Given the description of an element on the screen output the (x, y) to click on. 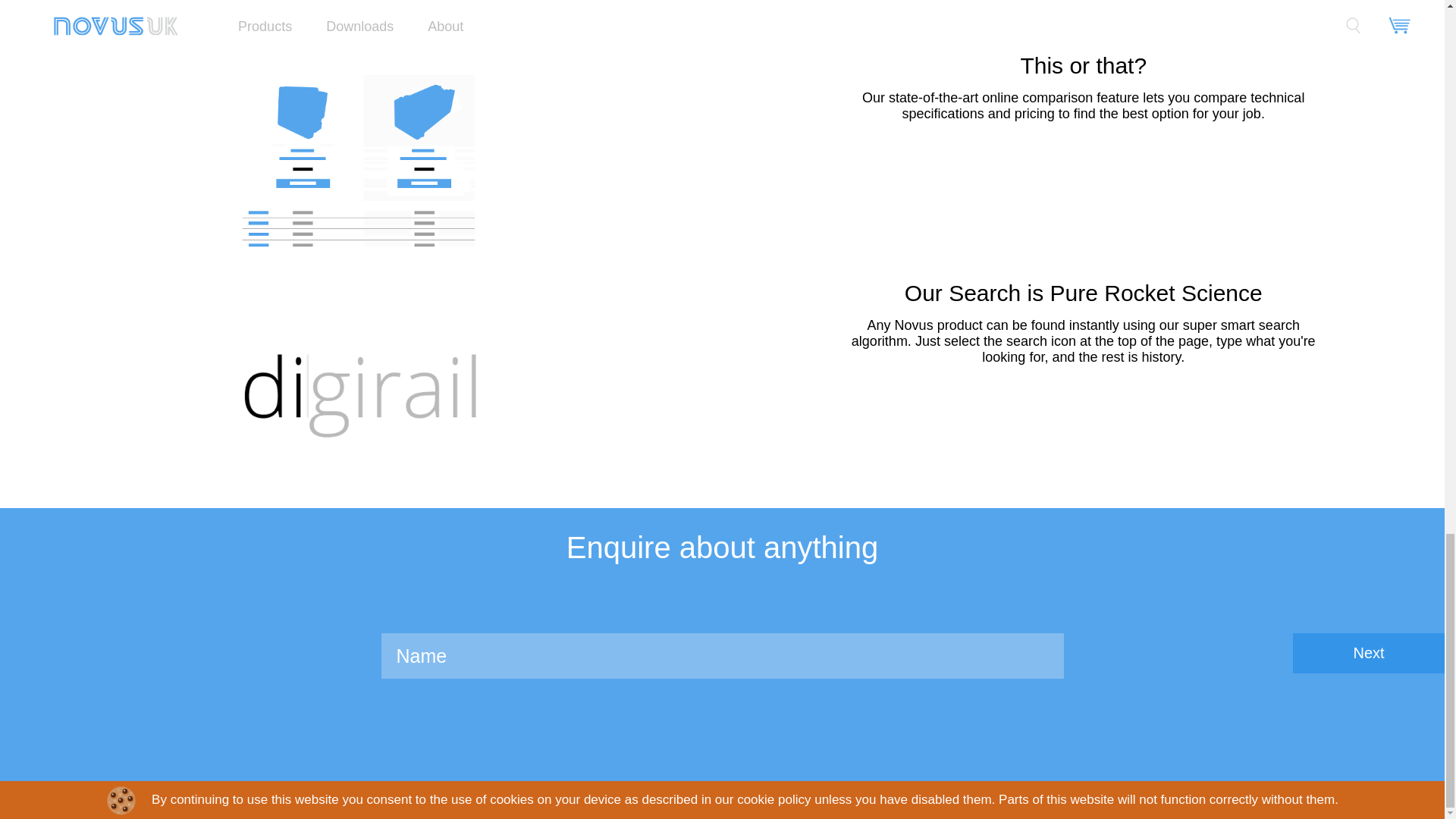
Name (721, 655)
